Given the description of an element on the screen output the (x, y) to click on. 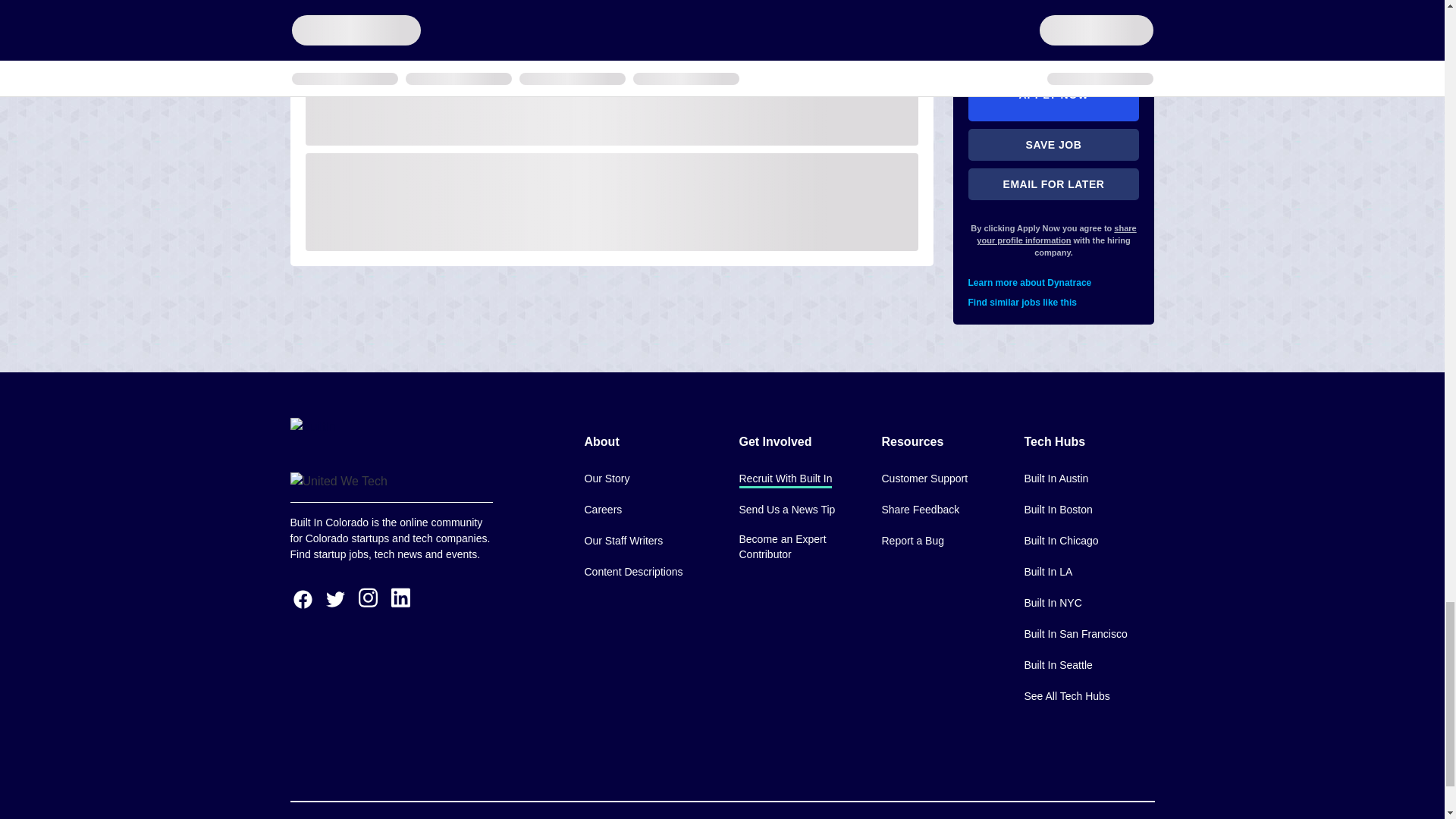
Our Staff Writers (622, 541)
Content Descriptions (632, 572)
Share Feedback (919, 510)
Customer Support (924, 479)
Send Us a News Tip (786, 510)
Report a Bug (911, 541)
Become an Expert Contributor (797, 547)
Recruit With Built In (784, 479)
Careers (602, 510)
Our Story (605, 479)
